Given the description of an element on the screen output the (x, y) to click on. 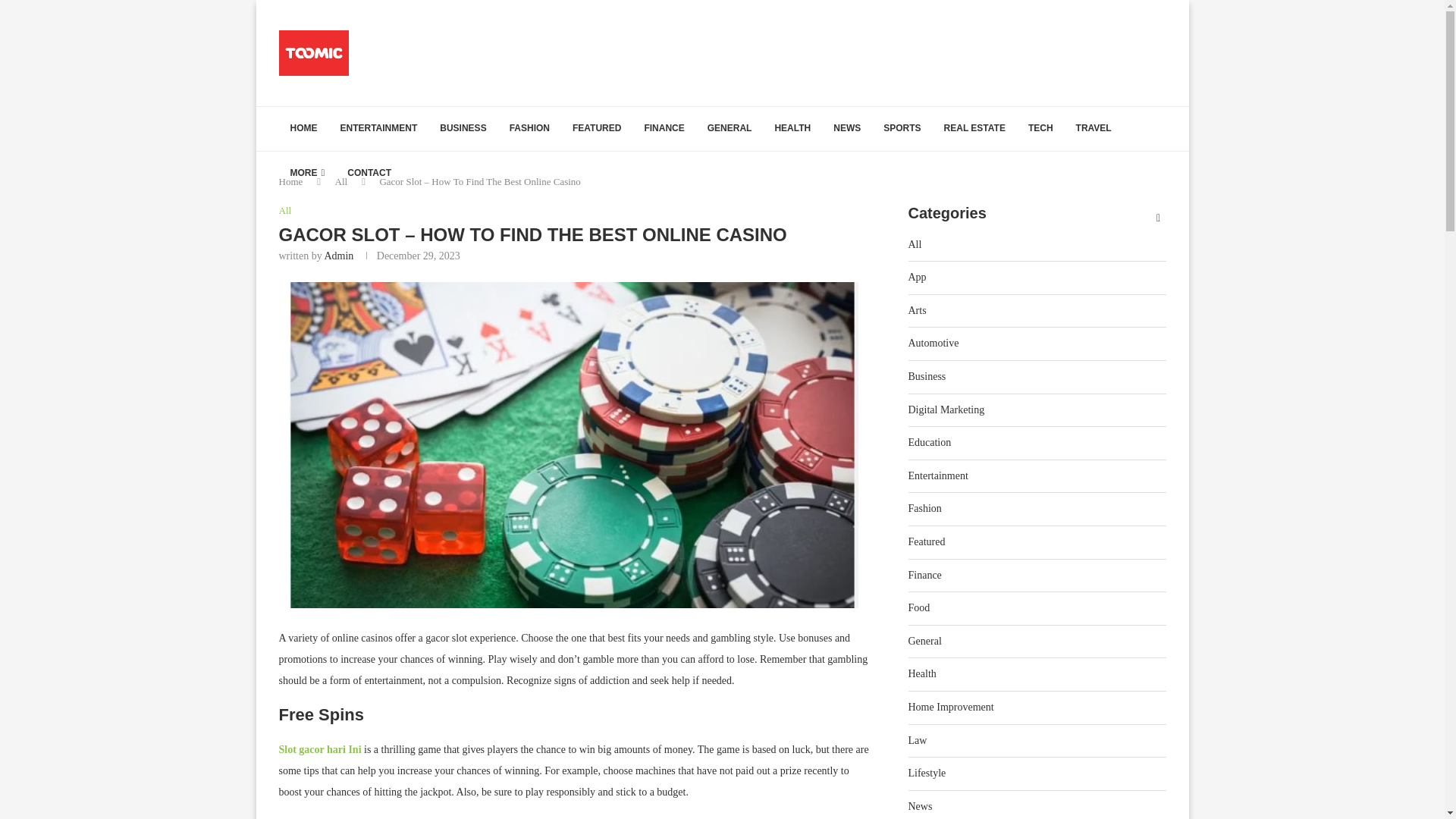
FINANCE (663, 128)
Admin (338, 255)
HOME (304, 128)
MORE (307, 173)
Slot gacor hari Ini (320, 749)
REAL ESTATE (974, 128)
HEALTH (792, 128)
FEATURED (595, 128)
CONTACT (369, 173)
FASHION (528, 128)
